Given the description of an element on the screen output the (x, y) to click on. 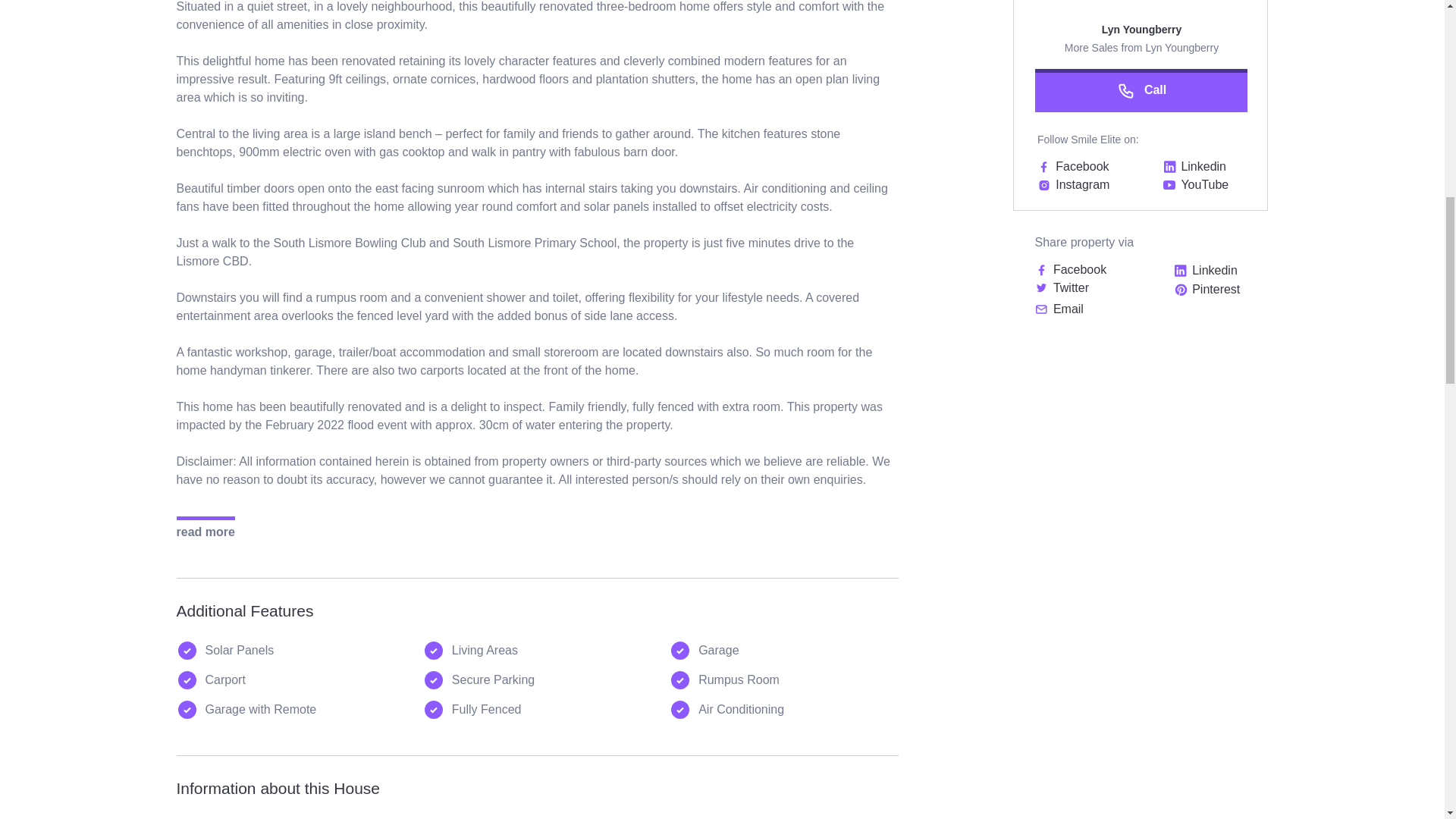
read more (205, 527)
Lyn Youngberry (1142, 31)
